Given the description of an element on the screen output the (x, y) to click on. 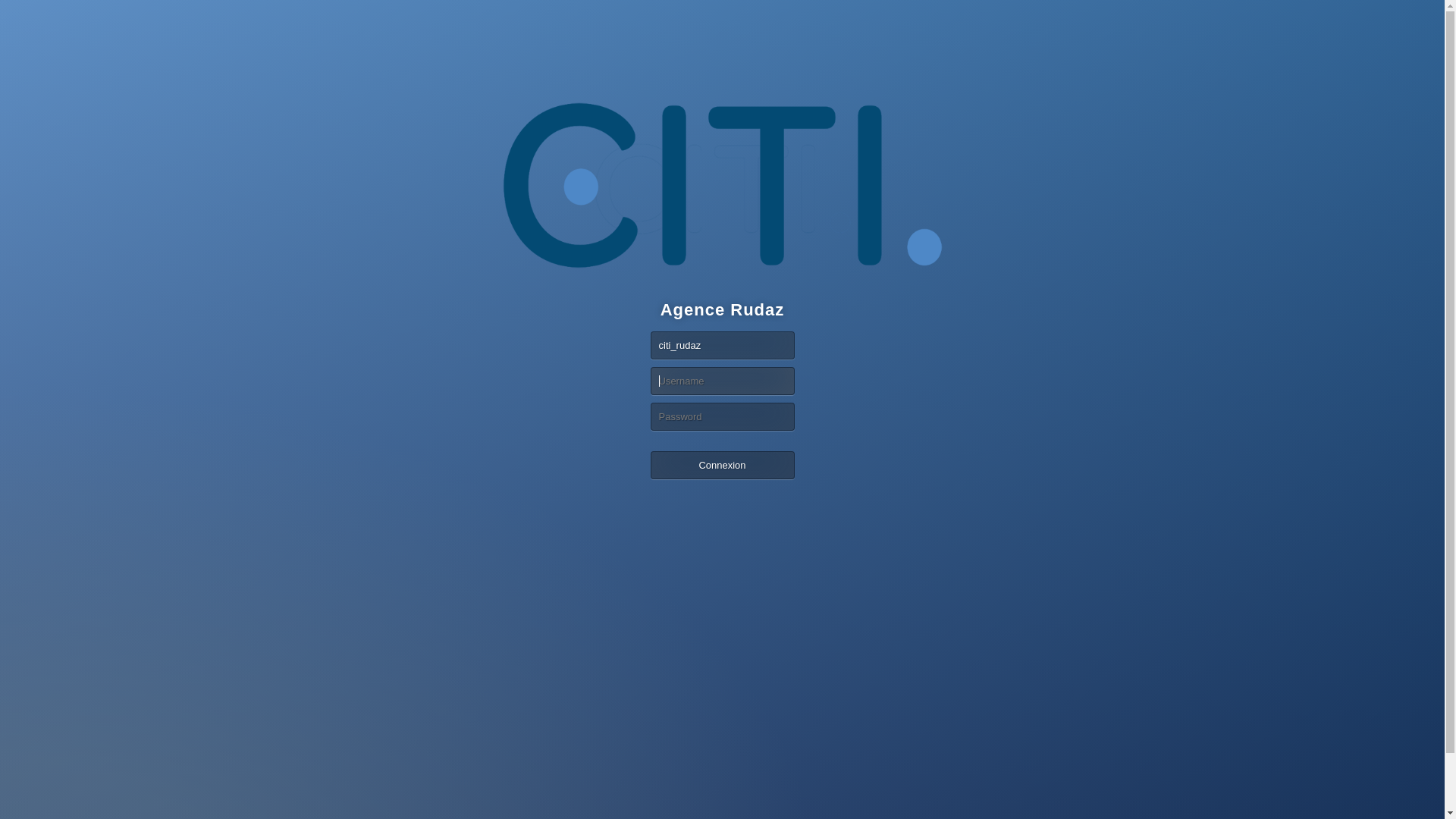
Connexion Element type: text (722, 465)
